Given the description of an element on the screen output the (x, y) to click on. 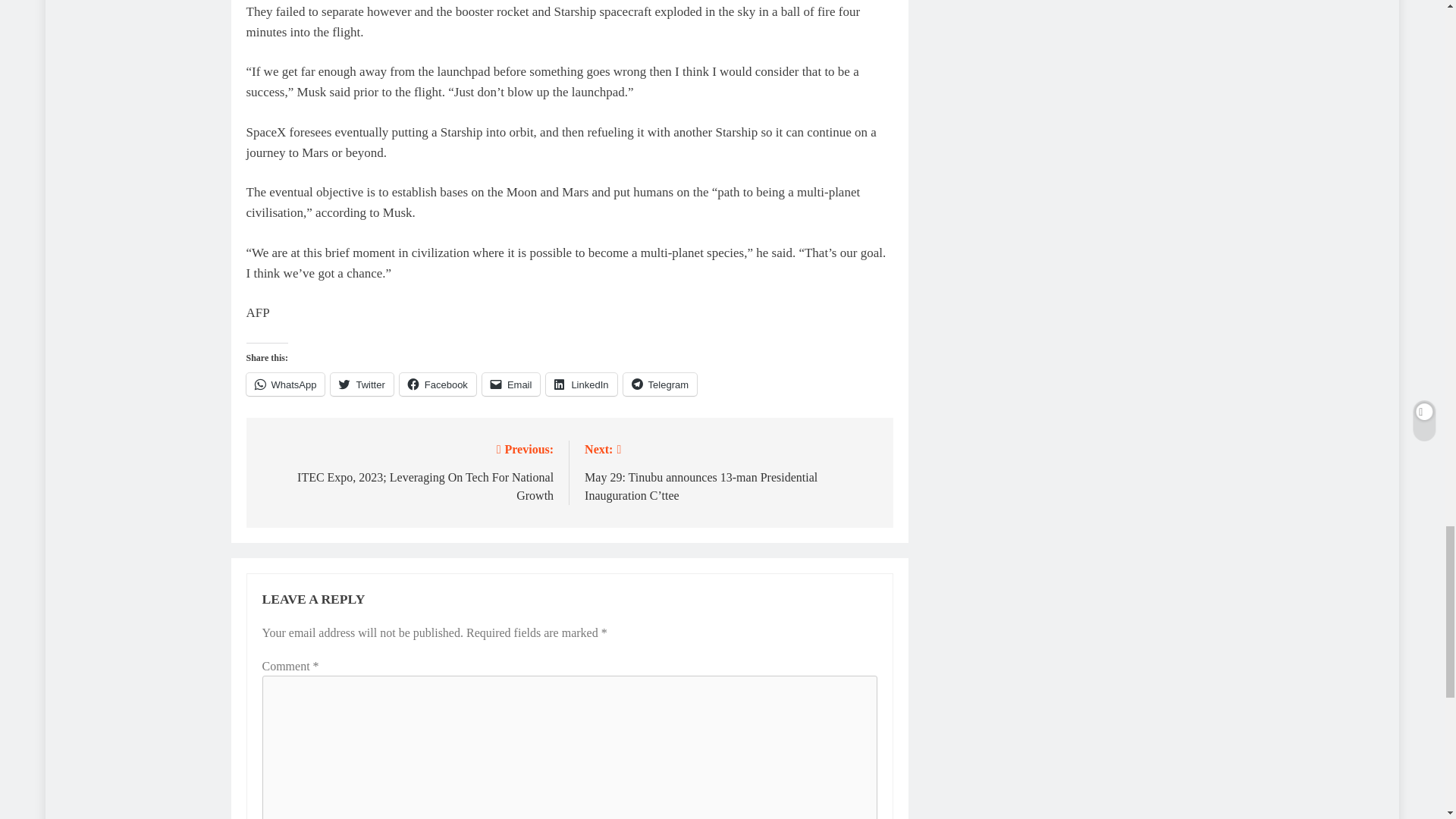
Click to share on WhatsApp (285, 384)
Telegram (660, 384)
WhatsApp (285, 384)
Twitter (361, 384)
Click to share on Twitter (361, 384)
LinkedIn (580, 384)
Email (510, 384)
Facebook (437, 384)
